Given the description of an element on the screen output the (x, y) to click on. 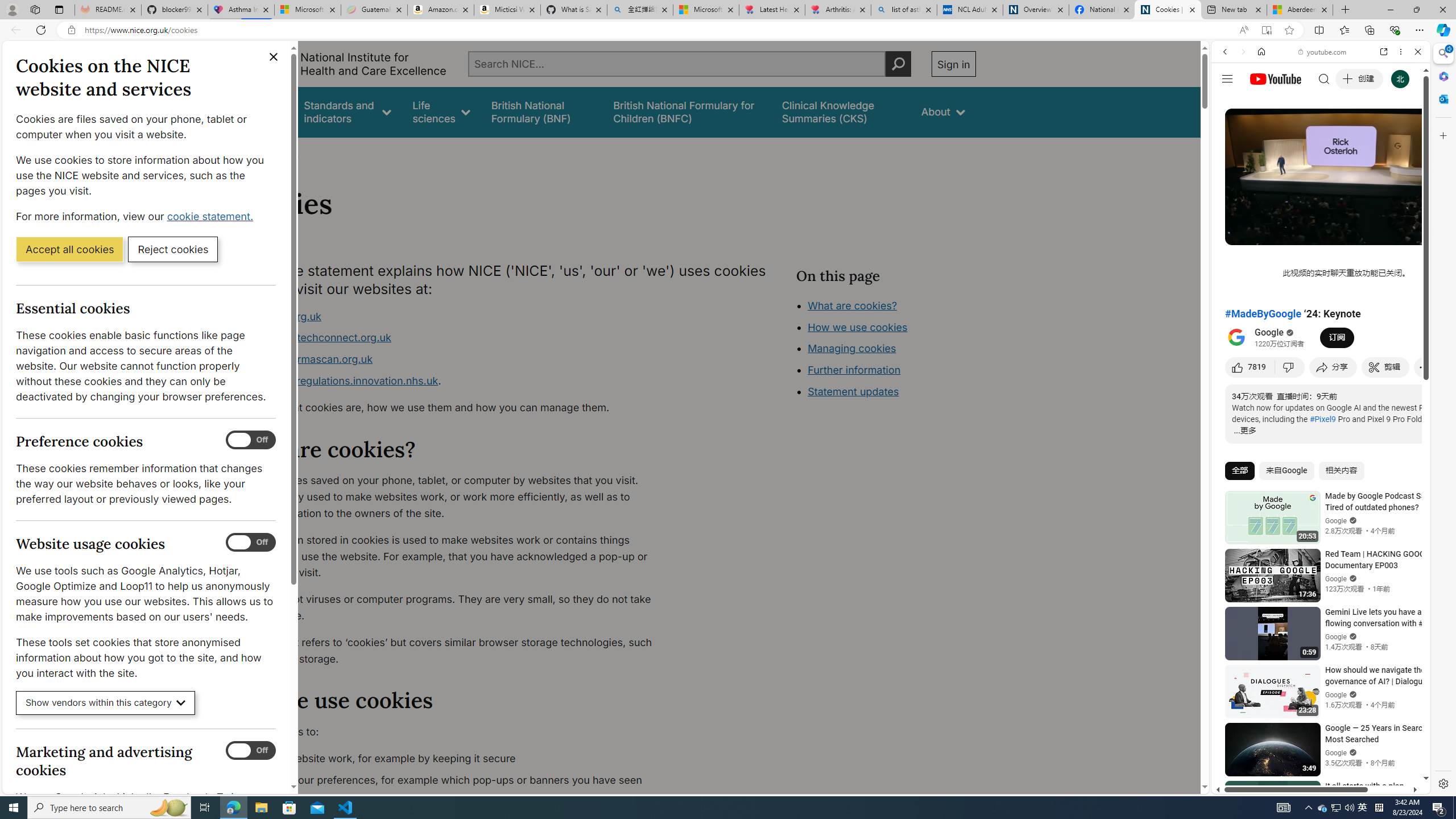
Class: in-page-nav__list (884, 349)
cookie statement. (Opens in a new window) (211, 215)
Aberdeen, Hong Kong SAR hourly forecast | Microsoft Weather (1300, 9)
Trailer #2 [HD] (1320, 337)
YouTube - YouTube (1315, 560)
